Given the description of an element on the screen output the (x, y) to click on. 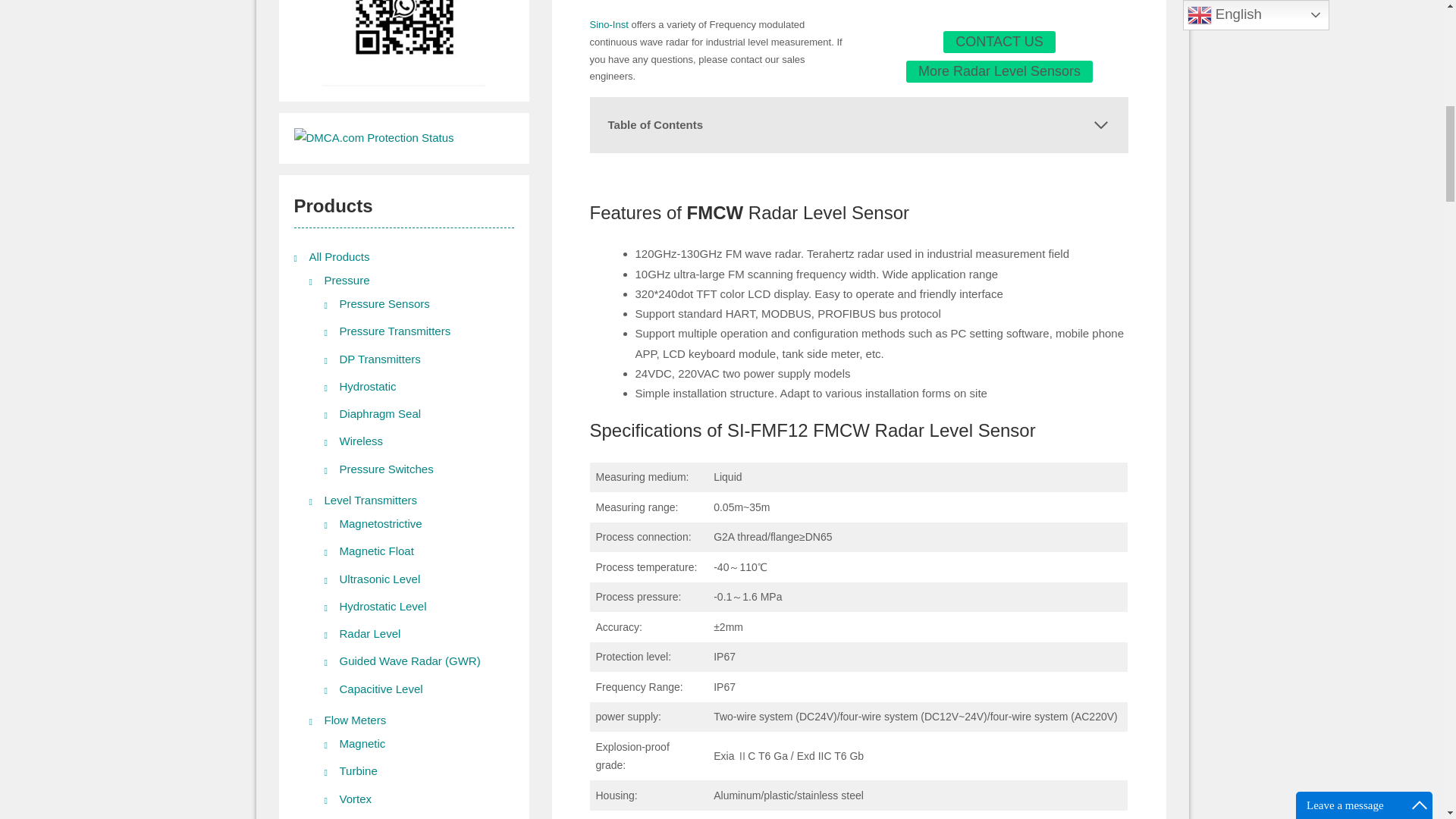
DMCA.com Protection Status (374, 137)
Sino-Inst (608, 24)
